Given the description of an element on the screen output the (x, y) to click on. 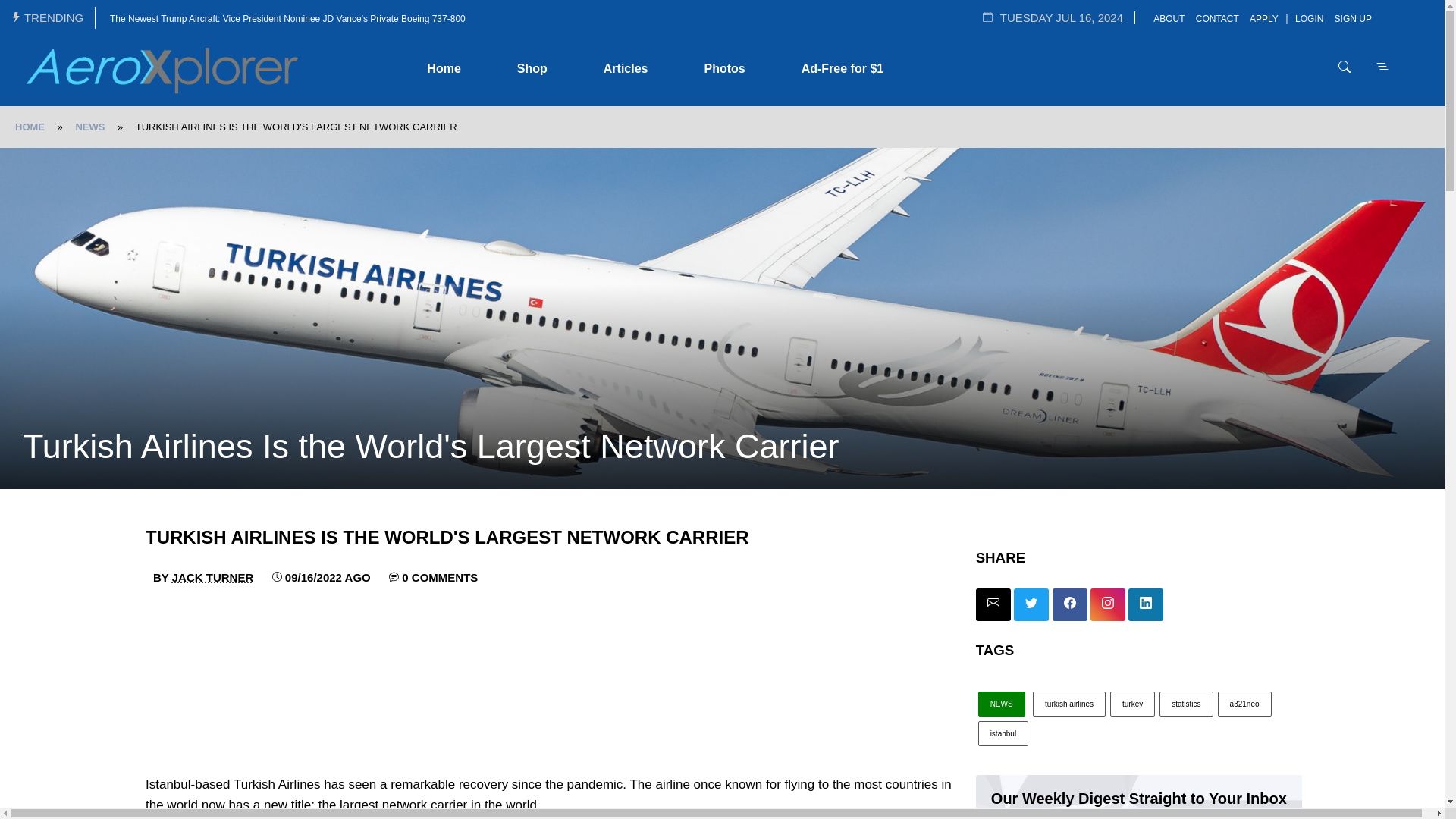
CONTACT (1217, 18)
Photos (724, 71)
APPLY (1264, 18)
LOGIN (1308, 18)
Home (443, 71)
ABOUT (1169, 18)
Articles (625, 71)
SIGN UP (1352, 18)
Advertisement (552, 675)
Shop (531, 71)
